Given the description of an element on the screen output the (x, y) to click on. 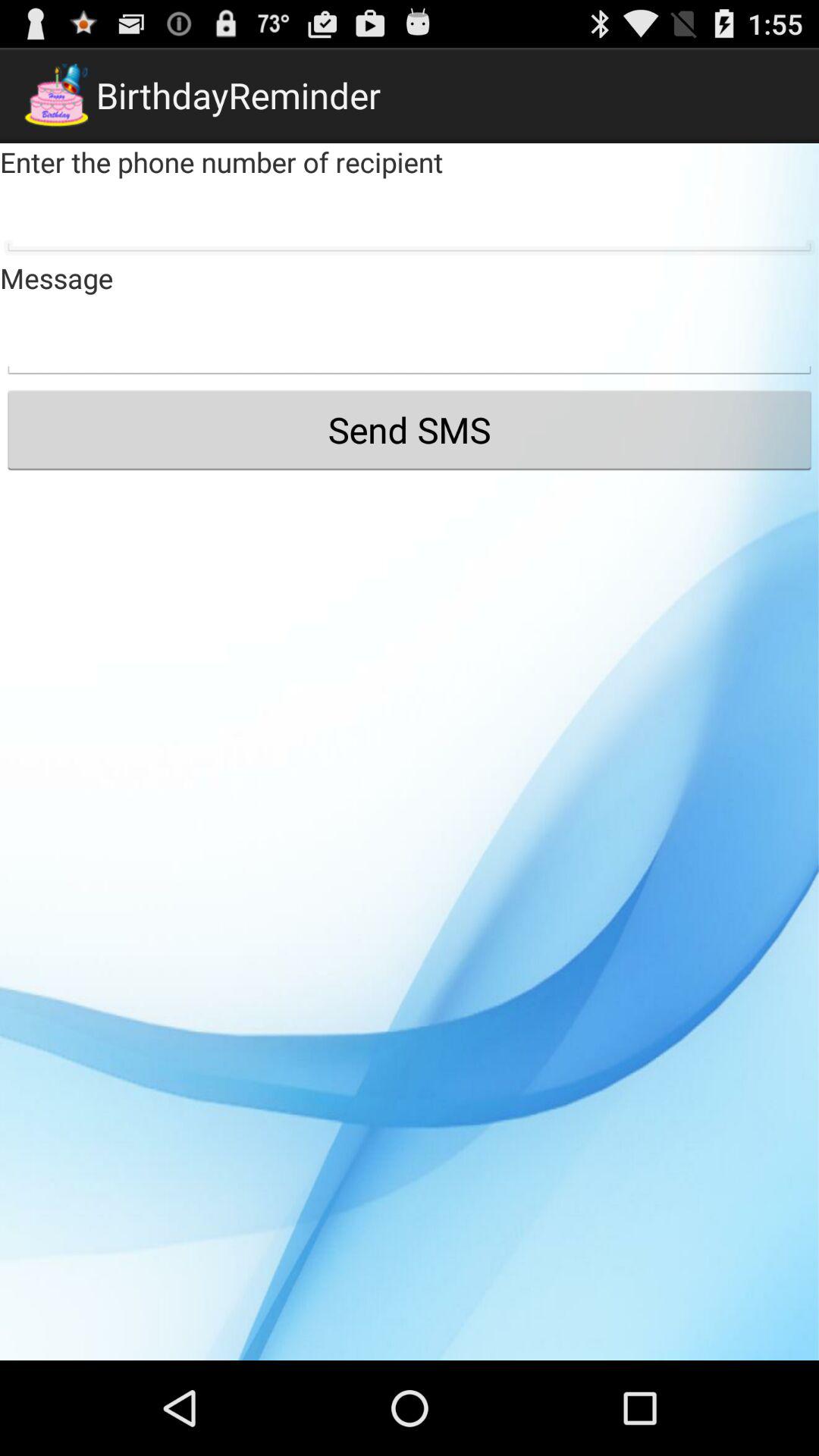
flip until send sms icon (409, 429)
